Given the description of an element on the screen output the (x, y) to click on. 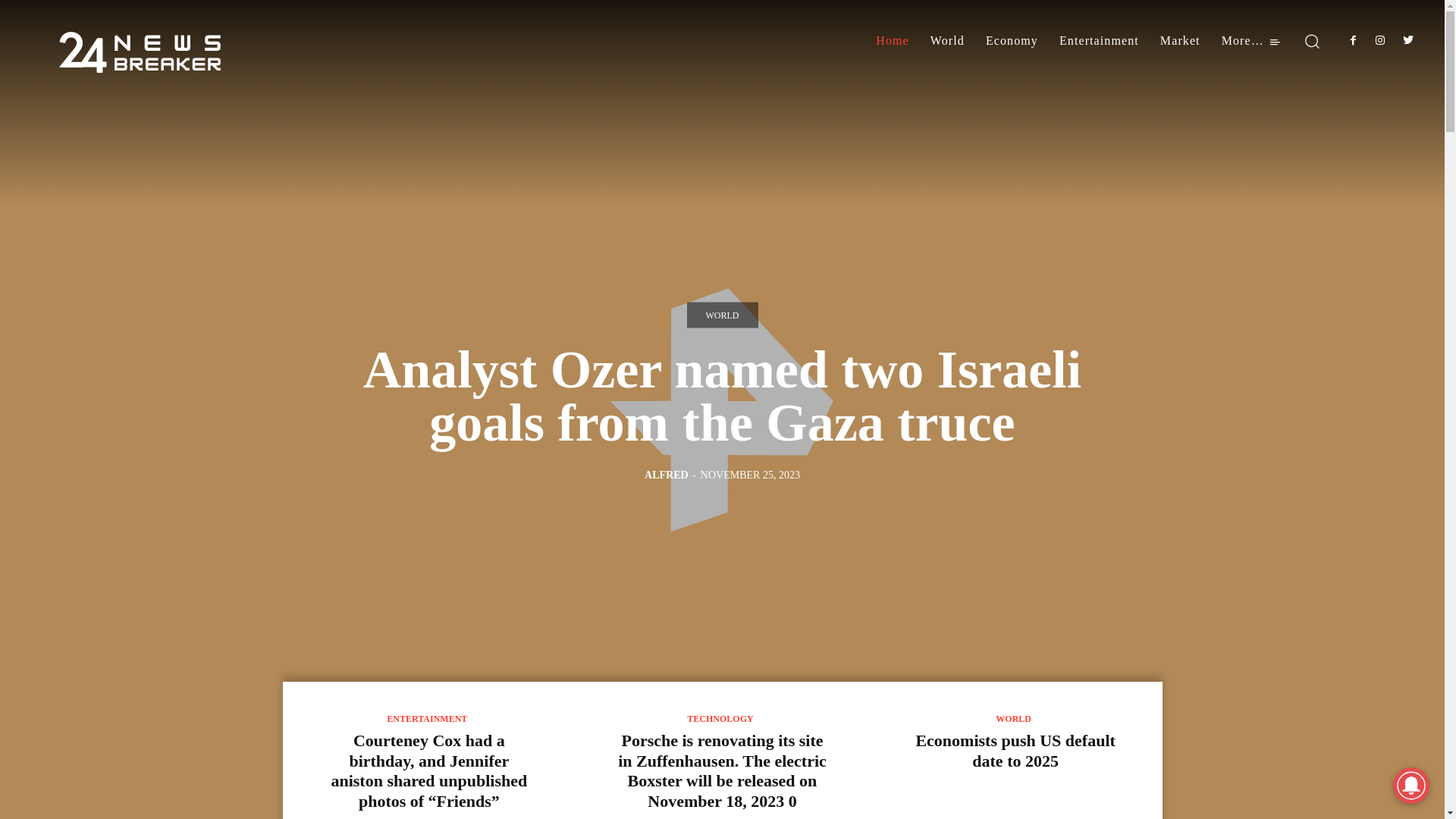
Facebook Element type: hover (1352, 40)
Economists push US default date to 2025 Element type: text (1014, 750)
ALFRED Element type: text (666, 474)
Economy Element type: text (1011, 40)
Home Element type: text (892, 40)
Analyst Ozer named two Israeli goals from the Gaza truce Element type: text (722, 395)
WORLD Element type: text (722, 314)
Market Element type: text (1180, 40)
Twitter Element type: hover (1407, 40)
Instagram Element type: hover (1379, 40)
ENTERTAINMENT Element type: text (426, 719)
WORLD Element type: text (1013, 719)
World Element type: text (947, 40)
Entertainment Element type: text (1098, 40)
TECHNOLOGY Element type: text (719, 719)
